Given the description of an element on the screen output the (x, y) to click on. 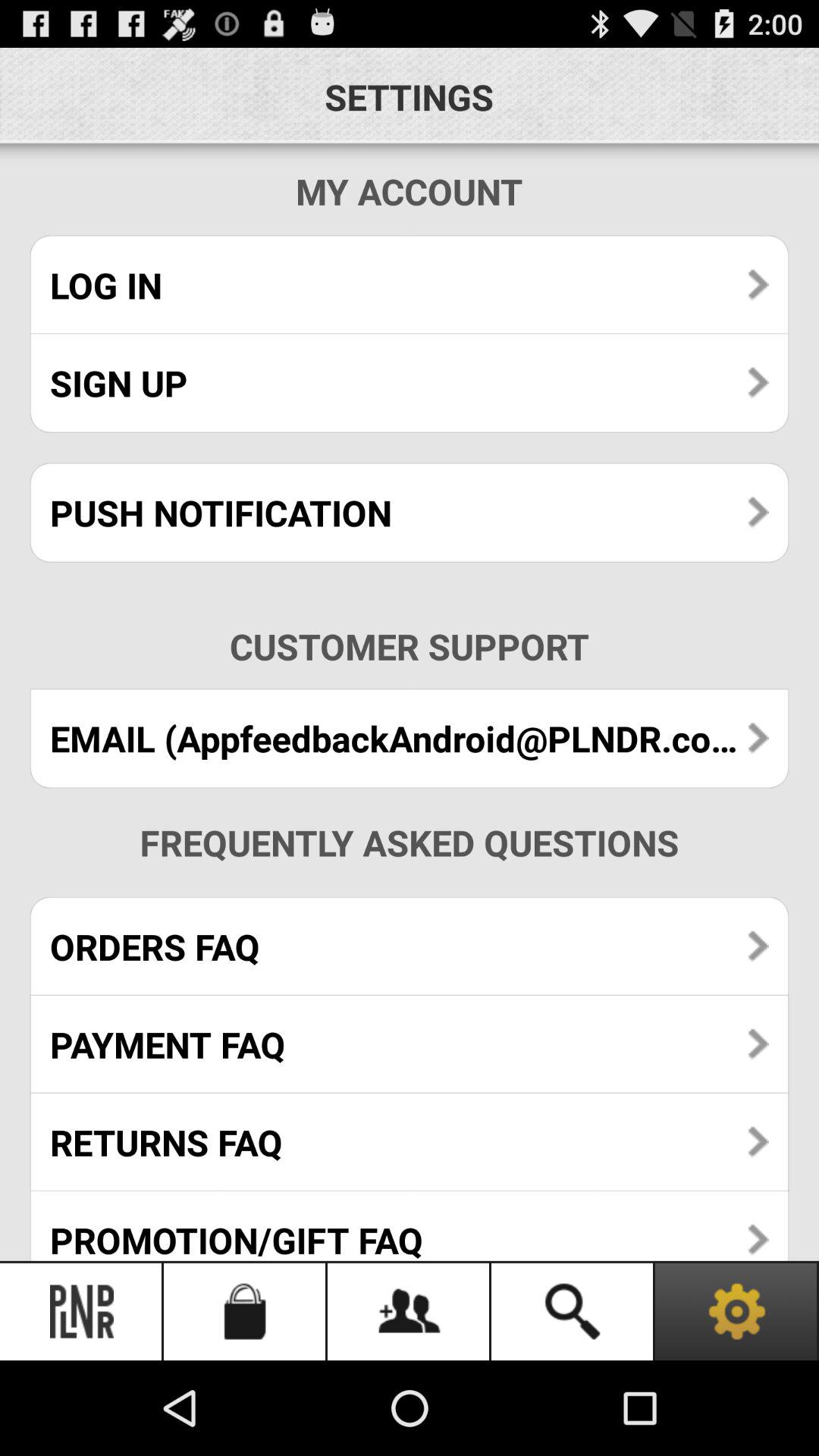
open the item below the log in app (409, 382)
